Given the description of an element on the screen output the (x, y) to click on. 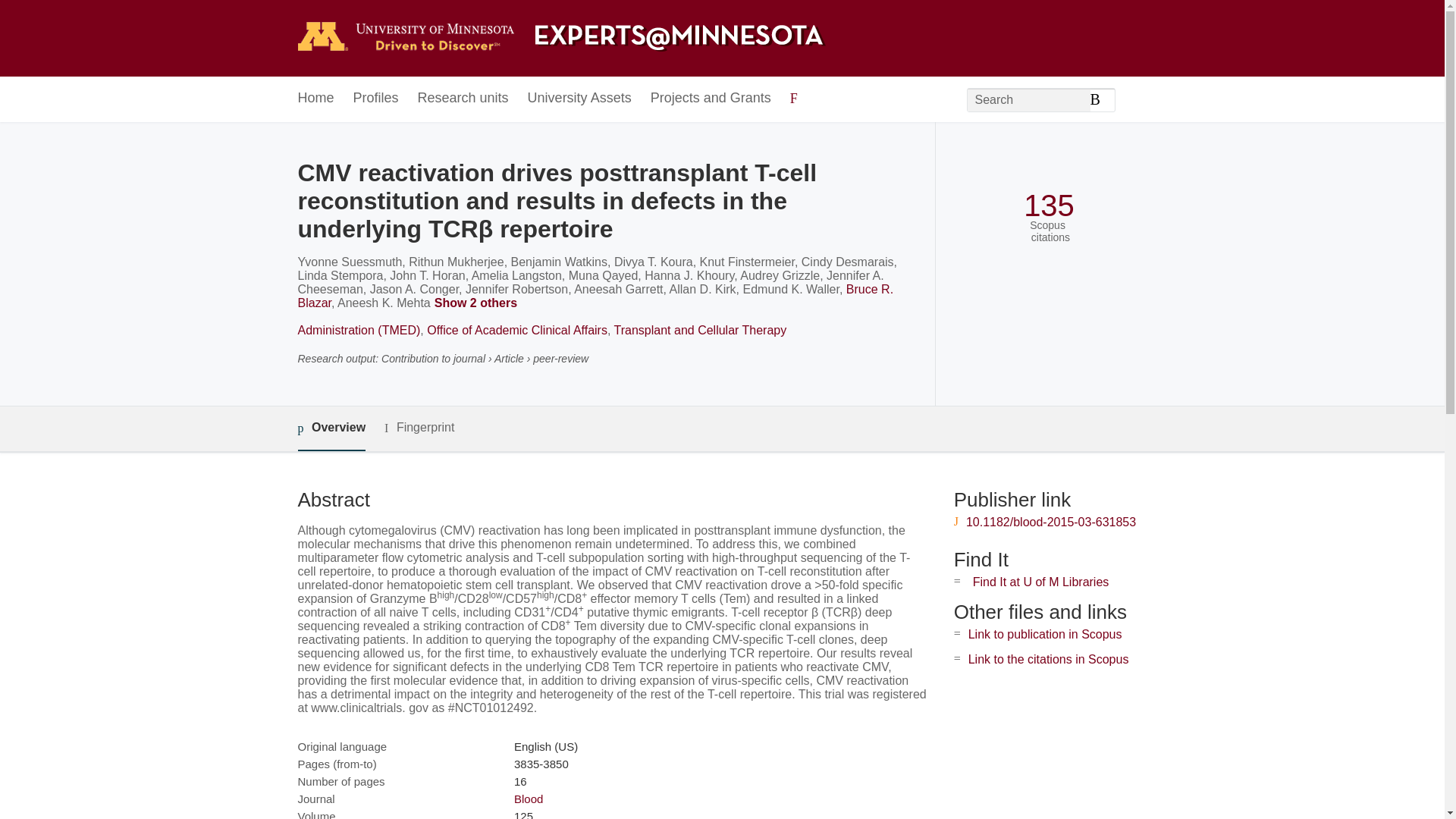
Show 2 others (477, 304)
Transplant and Cellular Therapy (700, 329)
Fingerprint (419, 427)
Research units (462, 98)
Blood (528, 798)
University Assets (579, 98)
Link to publication in Scopus (1045, 634)
Profiles (375, 98)
Projects and Grants (710, 98)
